Given the description of an element on the screen output the (x, y) to click on. 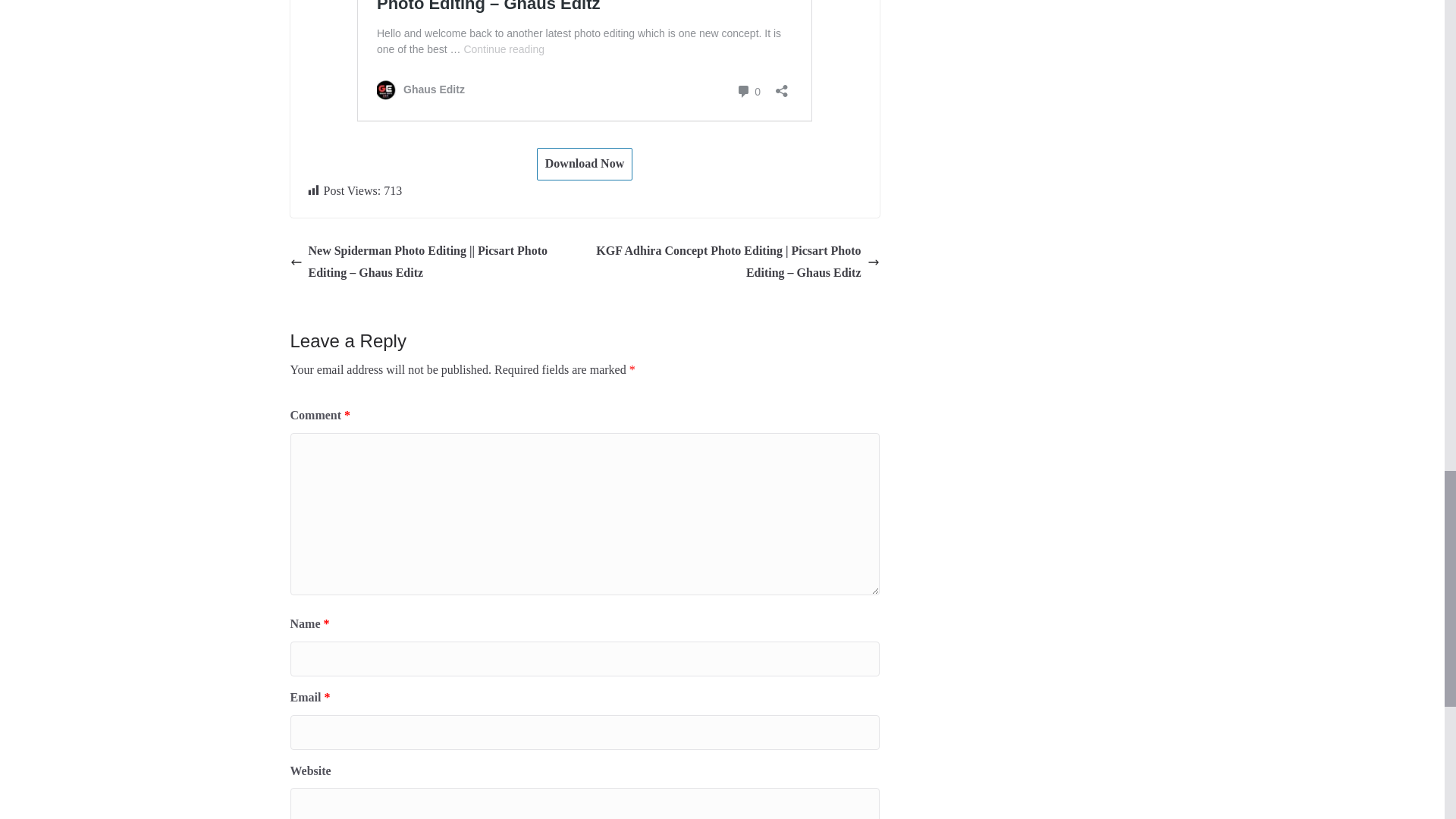
Download Now (584, 164)
